Given the description of an element on the screen output the (x, y) to click on. 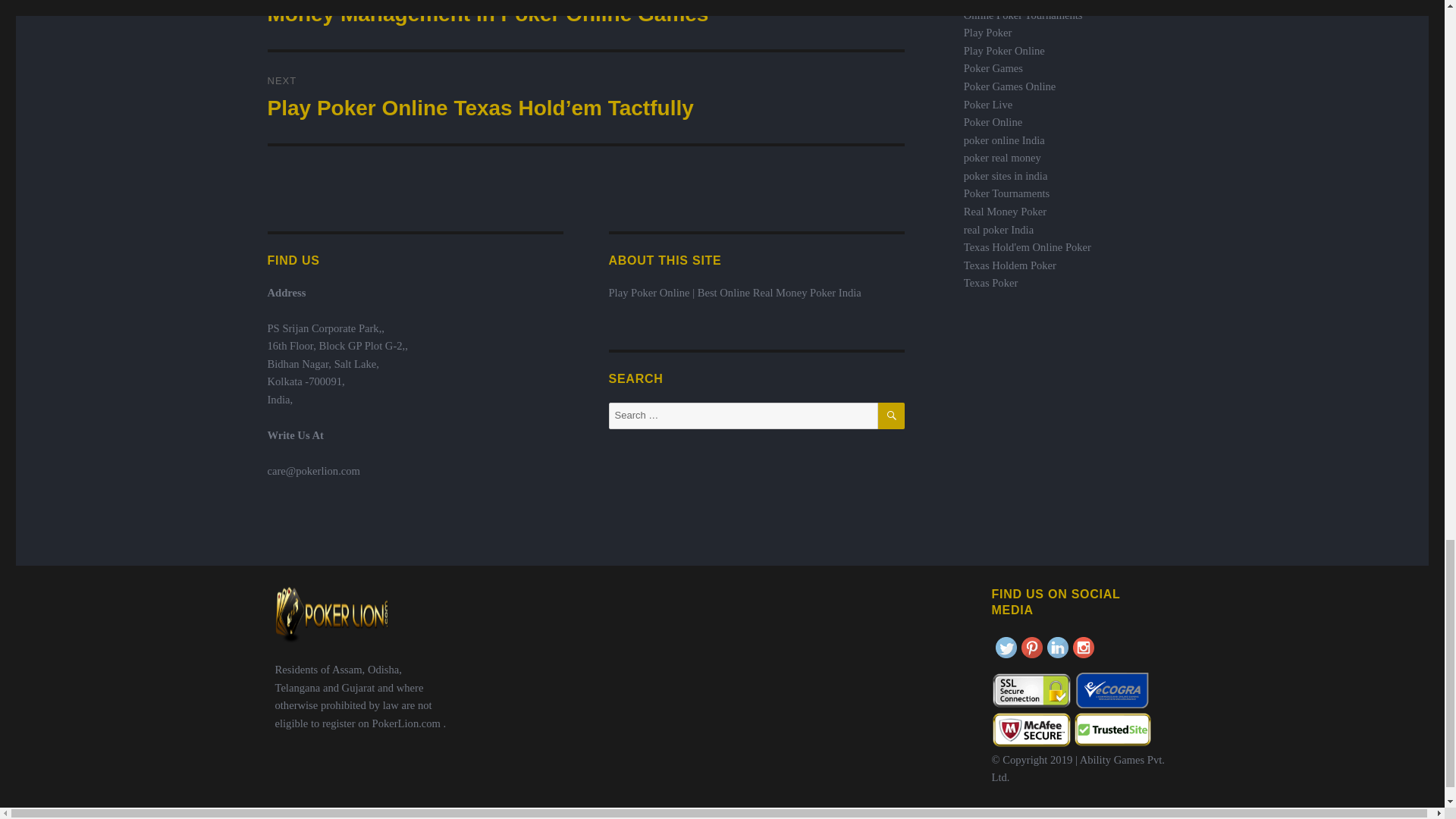
Play Poker at India's best online poker gaming site (987, 32)
